Given the description of an element on the screen output the (x, y) to click on. 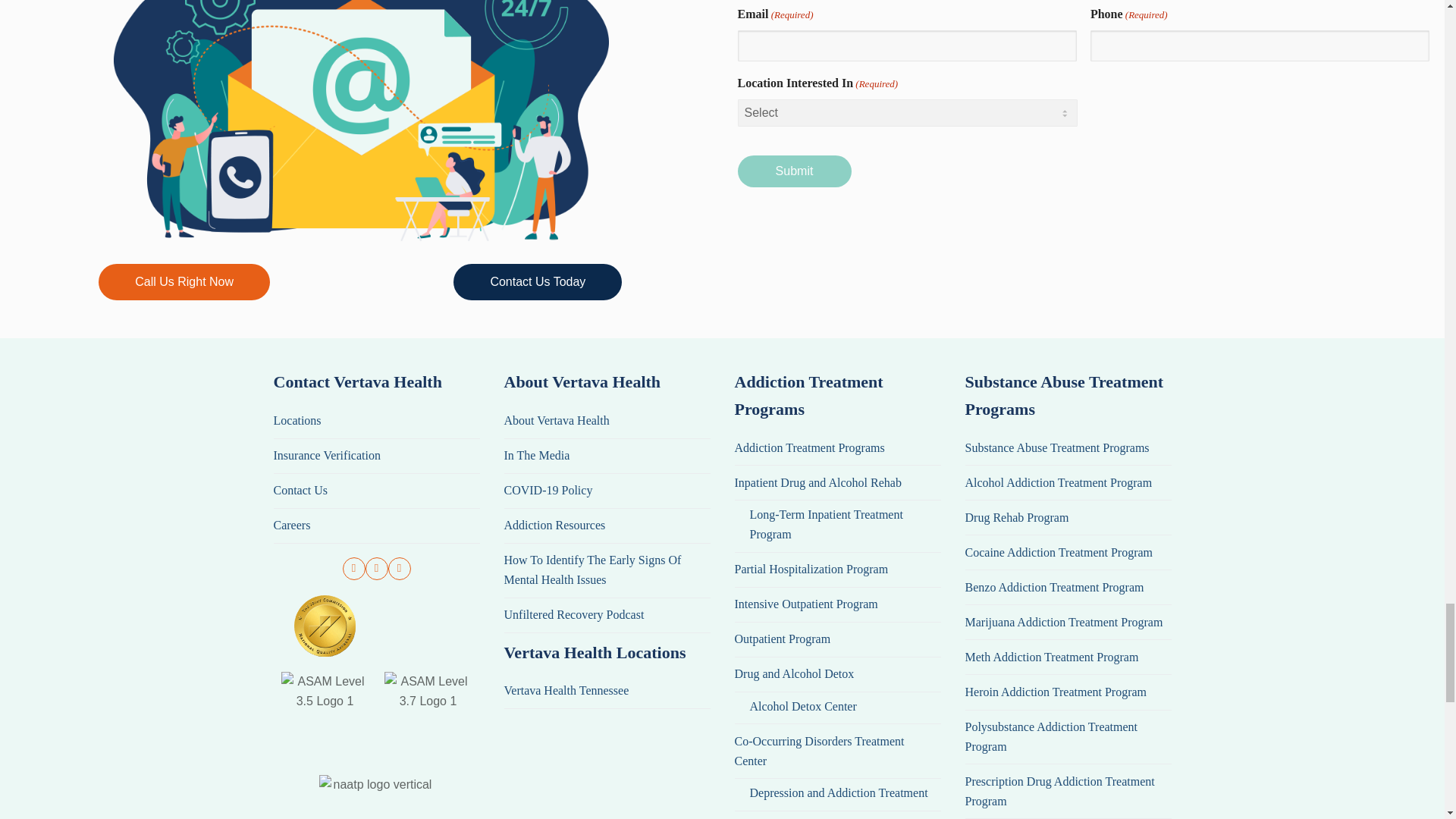
Submit (793, 171)
ASAM Level 3.7 Logo  1 (427, 715)
vertava-health-bottom-interior-cta-image (360, 120)
ASAM Level 3.5 Logo  1 (324, 715)
